Given the description of an element on the screen output the (x, y) to click on. 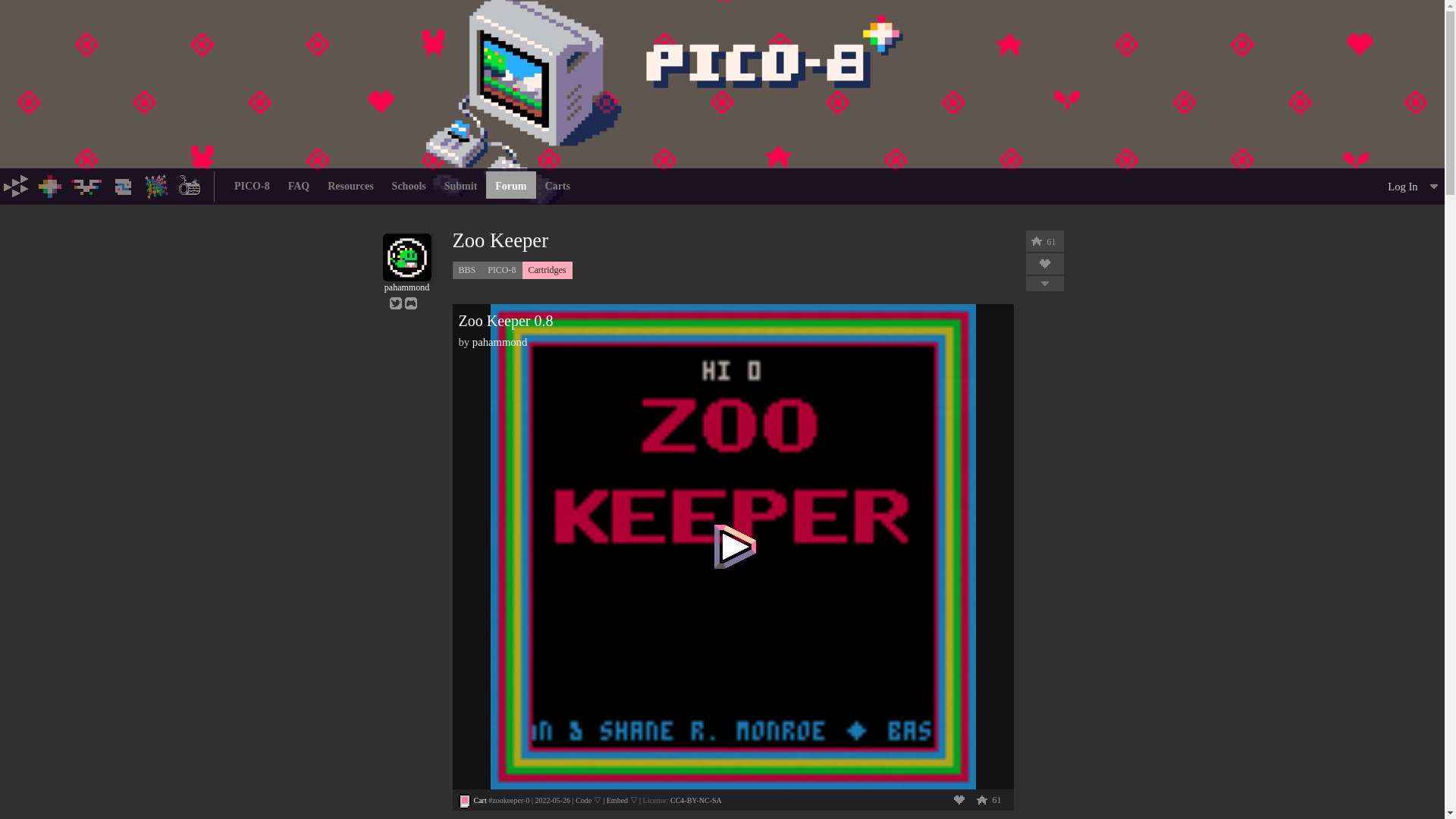
Superblog (189, 184)
Give this post a star (981, 799)
Add to your favourites collection (958, 799)
Open Cartridge File (479, 800)
pahammond (405, 282)
Voxatron (86, 184)
2022-05-26 07:27:19 (552, 800)
BBS (466, 270)
Add to your favourites collection (1044, 263)
BBS (156, 184)
